Given the description of an element on the screen output the (x, y) to click on. 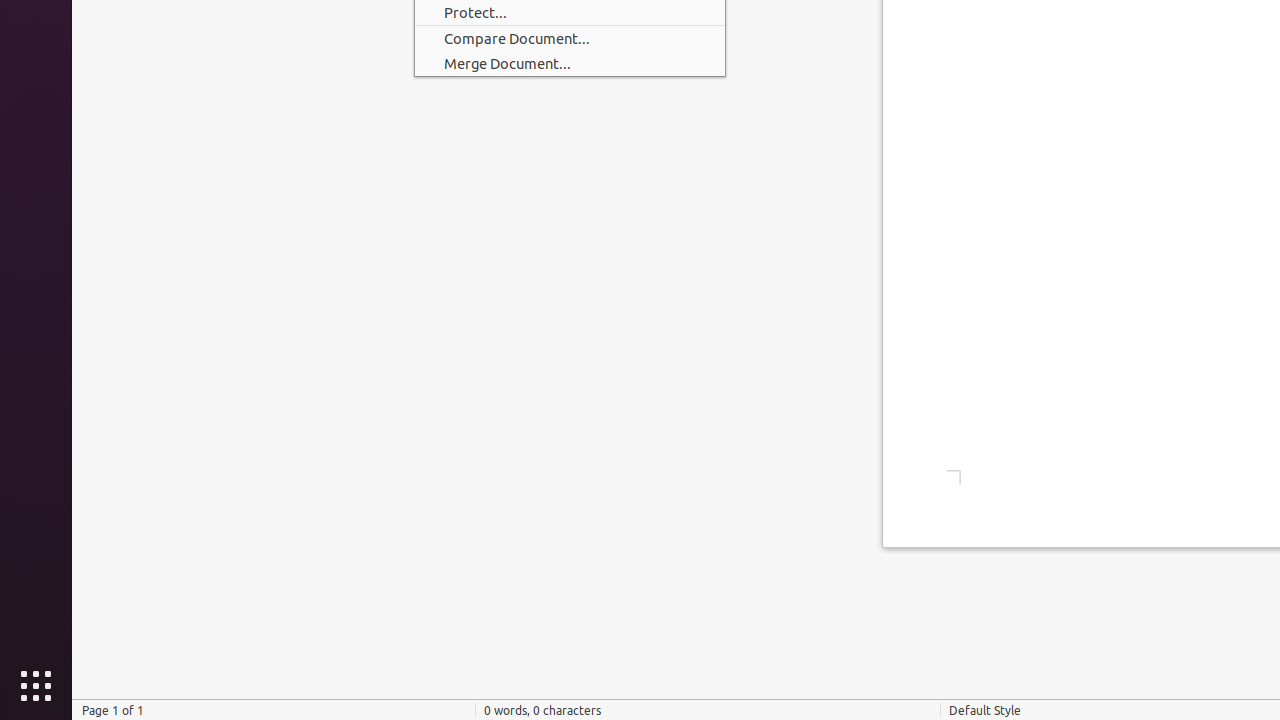
Compare Document... Element type: menu-item (570, 38)
Show Applications Element type: toggle-button (36, 686)
Merge Document... Element type: menu-item (570, 63)
